Given the description of an element on the screen output the (x, y) to click on. 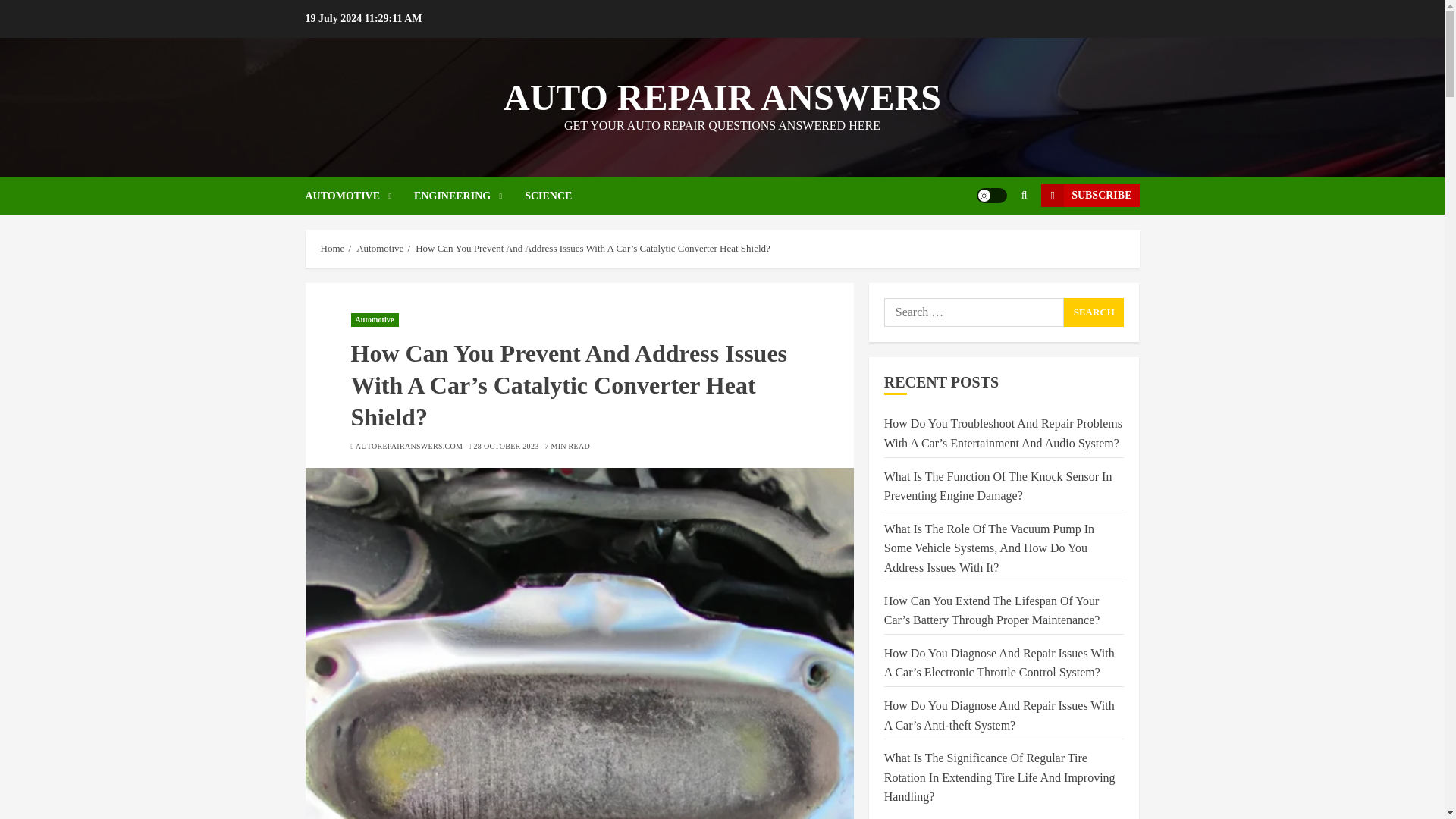
Search (1094, 312)
AUTO REPAIR ANSWERS (721, 96)
SCIENCE (548, 195)
Automotive (373, 319)
Home (331, 248)
28 OCTOBER 2023 (506, 446)
ENGINEERING (468, 195)
Search (994, 241)
AUTOREPAIRANSWERS.COM (409, 446)
Automotive (379, 248)
SUBSCRIBE (1089, 195)
Search (1094, 312)
AUTOMOTIVE (358, 195)
